Given the description of an element on the screen output the (x, y) to click on. 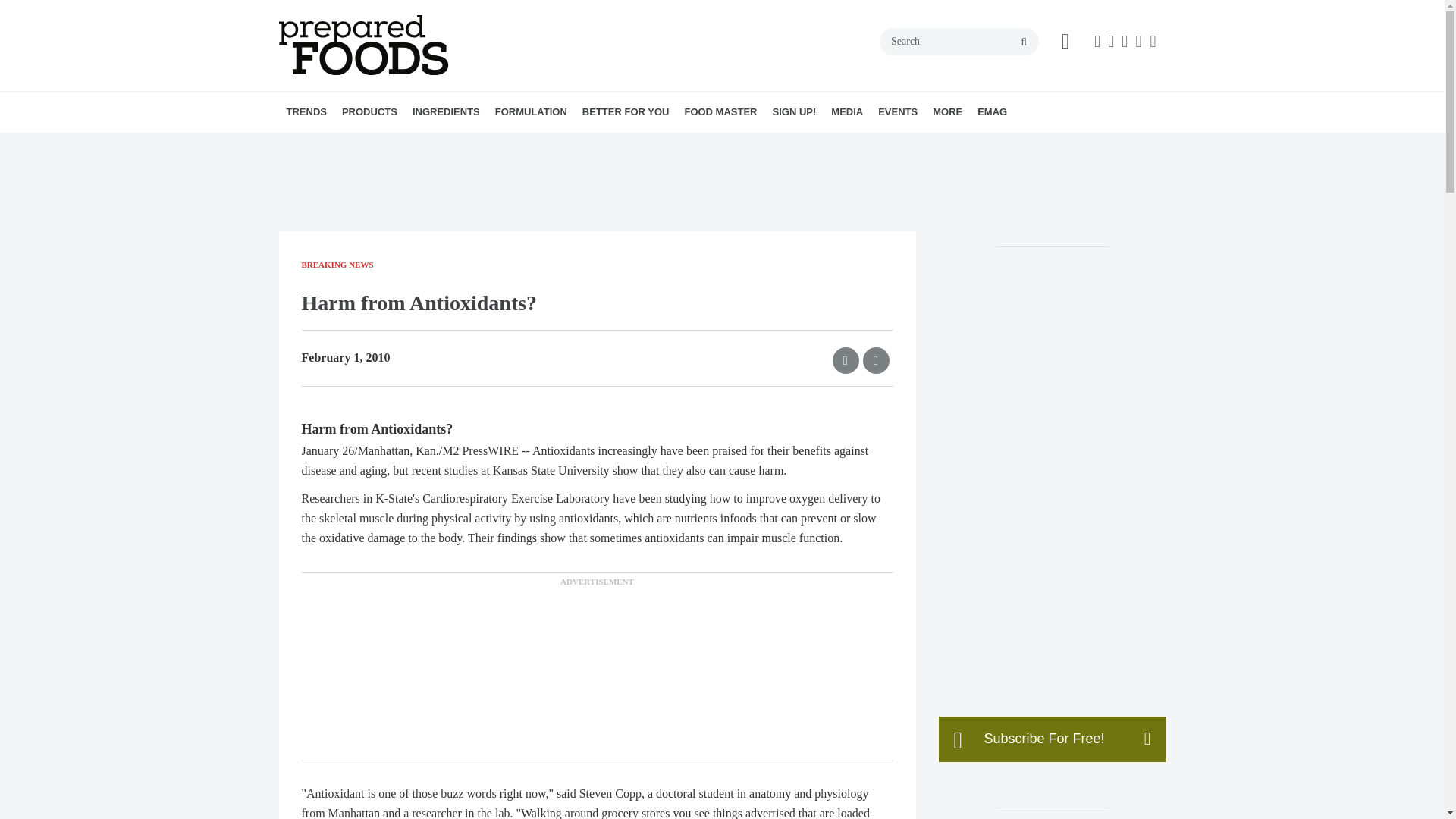
TRENDS (306, 111)
FRUITS, VEGETABLES AND NUTS (530, 145)
COLORINGS (506, 145)
BEVERAGES (436, 145)
FLAVORS, SEASONINGS, SPICES (522, 145)
DIETARY FIBER (513, 145)
CANNABIS (452, 145)
INGREDIENTS (445, 111)
search (1023, 42)
Search (959, 41)
